Given the description of an element on the screen output the (x, y) to click on. 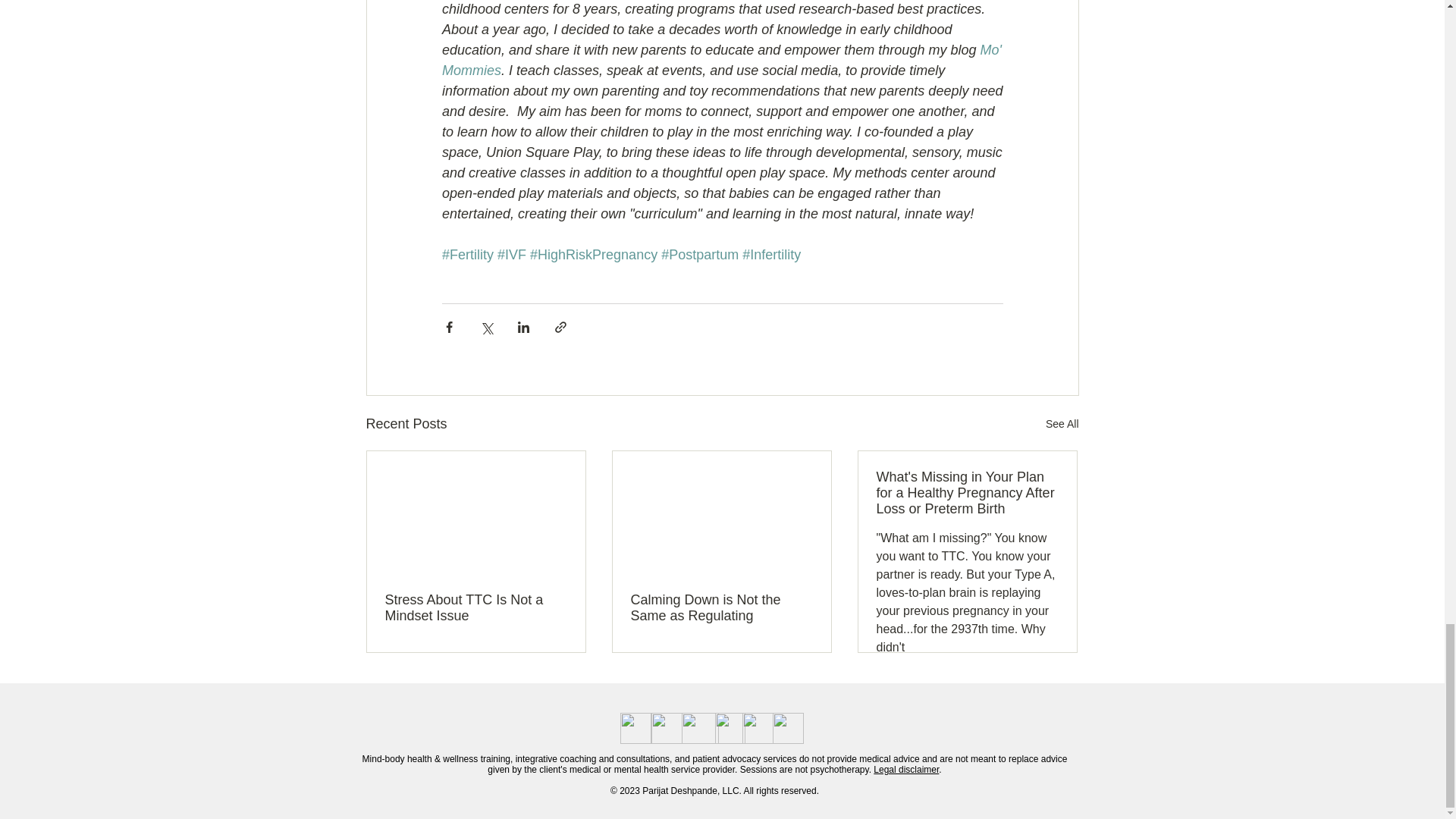
Youtube.png (757, 727)
See All (1061, 423)
Instagram.png (699, 727)
Legal disclaimer. (906, 769)
Stress About TTC Is Not a Mindset Issue (476, 608)
Twitter.png (665, 727)
Mo' Mommies (722, 59)
linkedin.png (787, 727)
Pinterest.png (729, 727)
Calming Down is Not the Same as Regulating (721, 608)
